Given the description of an element on the screen output the (x, y) to click on. 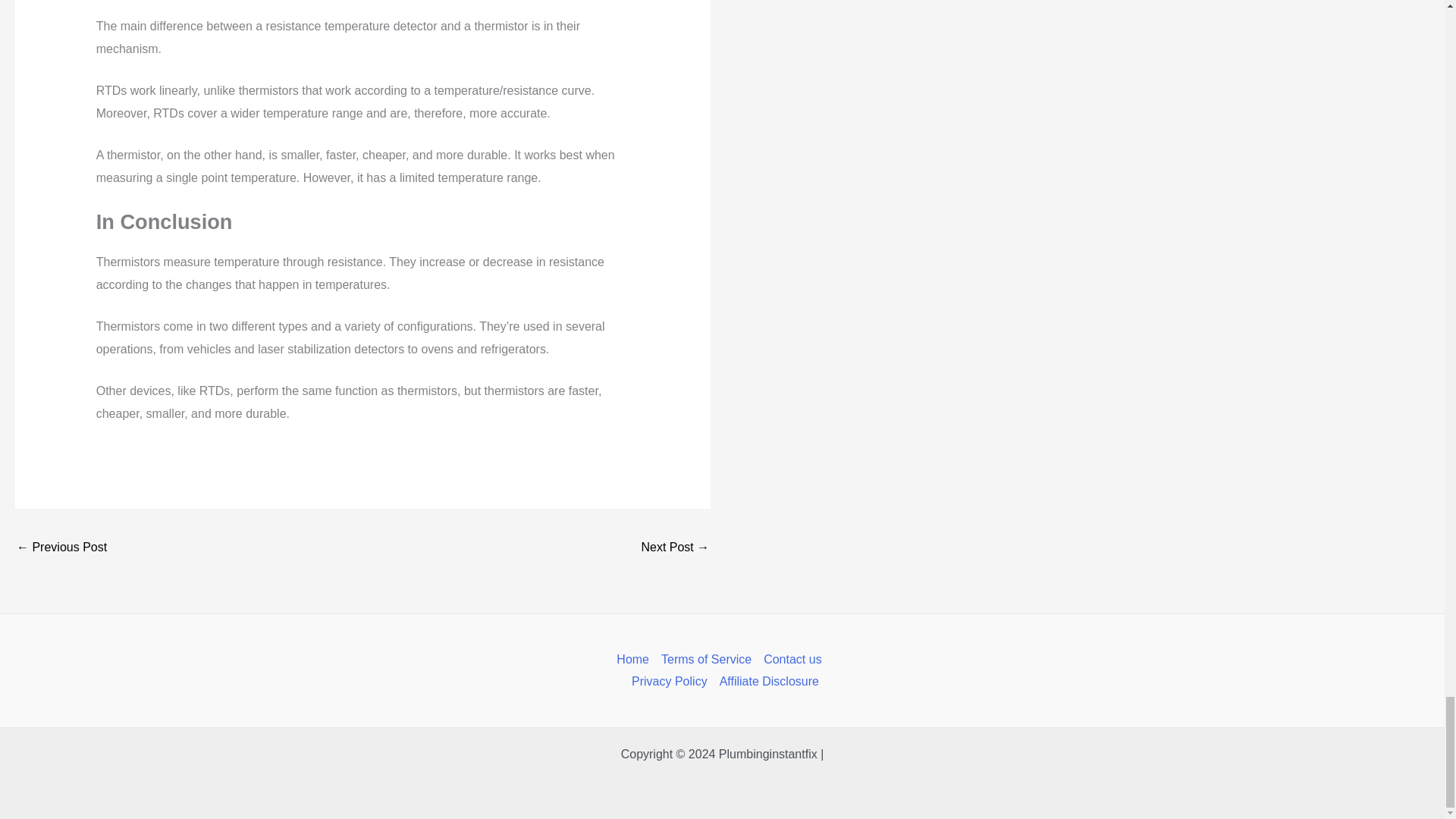
Home (635, 659)
Contact us (792, 659)
Terms of Service (706, 659)
